Given the description of an element on the screen output the (x, y) to click on. 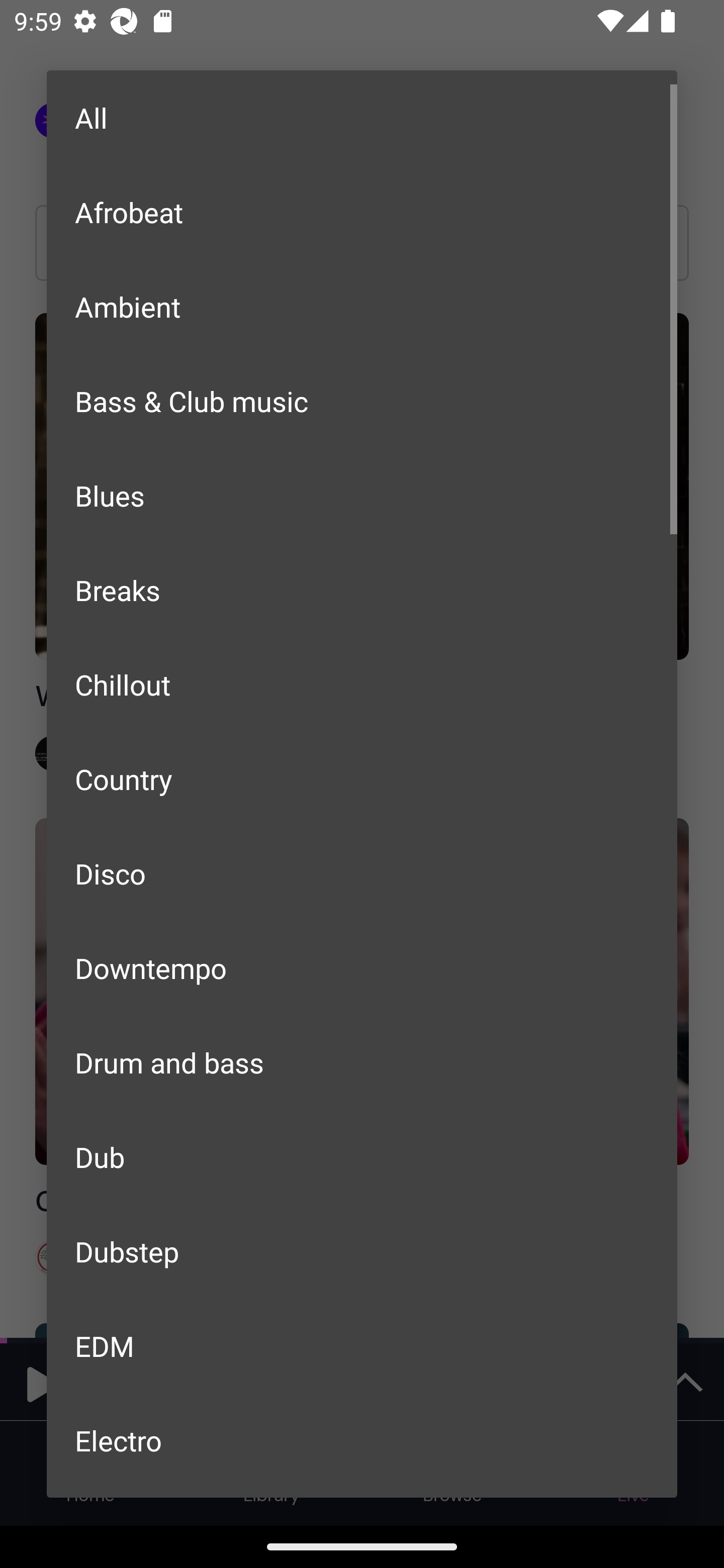
All (361, 117)
Afrobeat (361, 211)
Ambient (361, 306)
Bass & Club music (361, 401)
Blues (361, 495)
Breaks (361, 589)
Chillout (361, 684)
Country (361, 779)
Disco (361, 873)
Downtempo (361, 967)
Drum and bass (361, 1062)
Dub (361, 1157)
Dubstep (361, 1251)
EDM (361, 1345)
Electro (361, 1440)
